Given the description of an element on the screen output the (x, y) to click on. 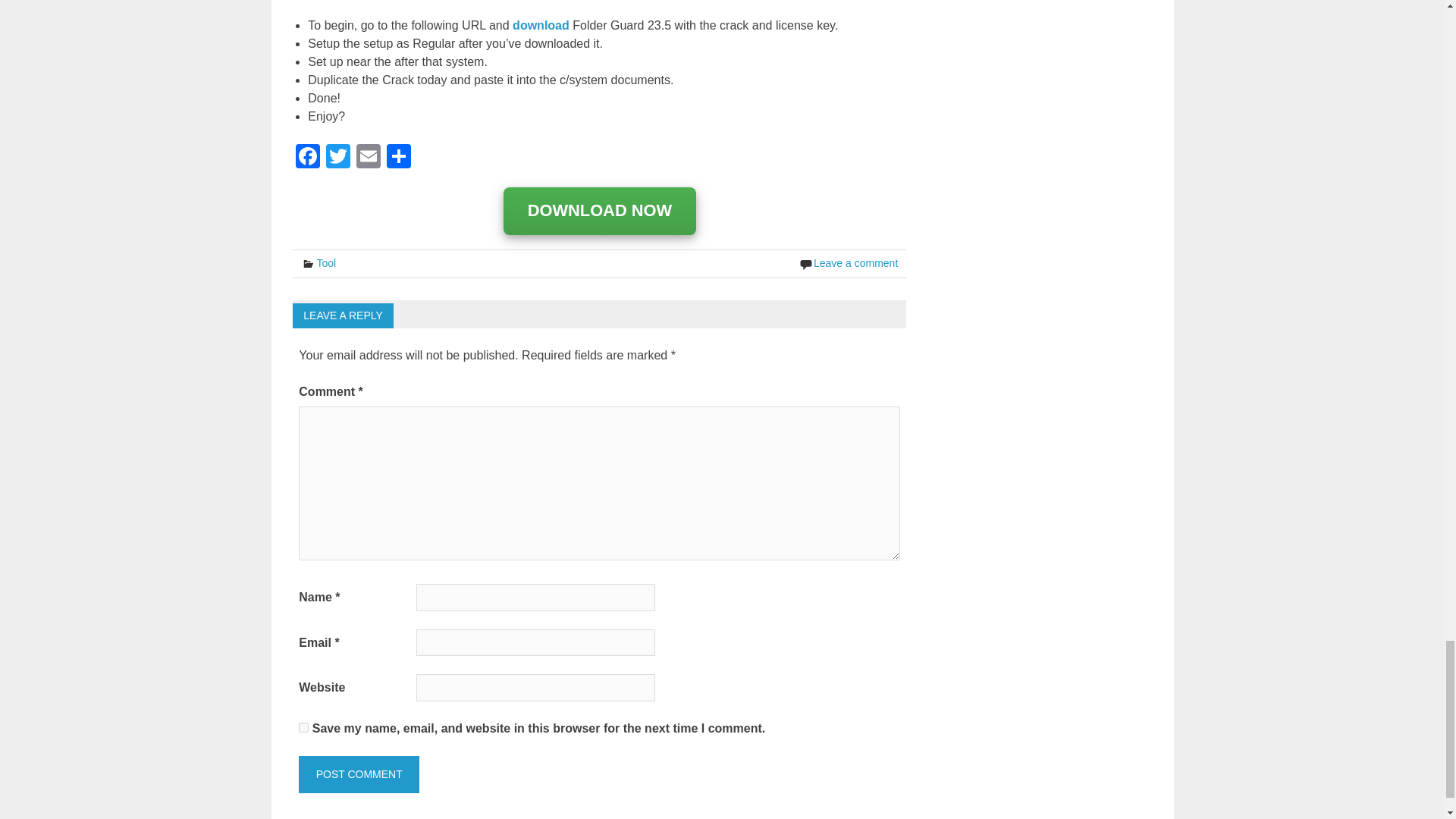
Email (368, 157)
Leave a comment (855, 263)
download (540, 24)
Twitter (338, 157)
Tool (325, 263)
Post Comment (358, 774)
Facebook (307, 157)
Facebook (307, 157)
DOWNLOAD NOW (600, 211)
Email (368, 157)
